Given the description of an element on the screen output the (x, y) to click on. 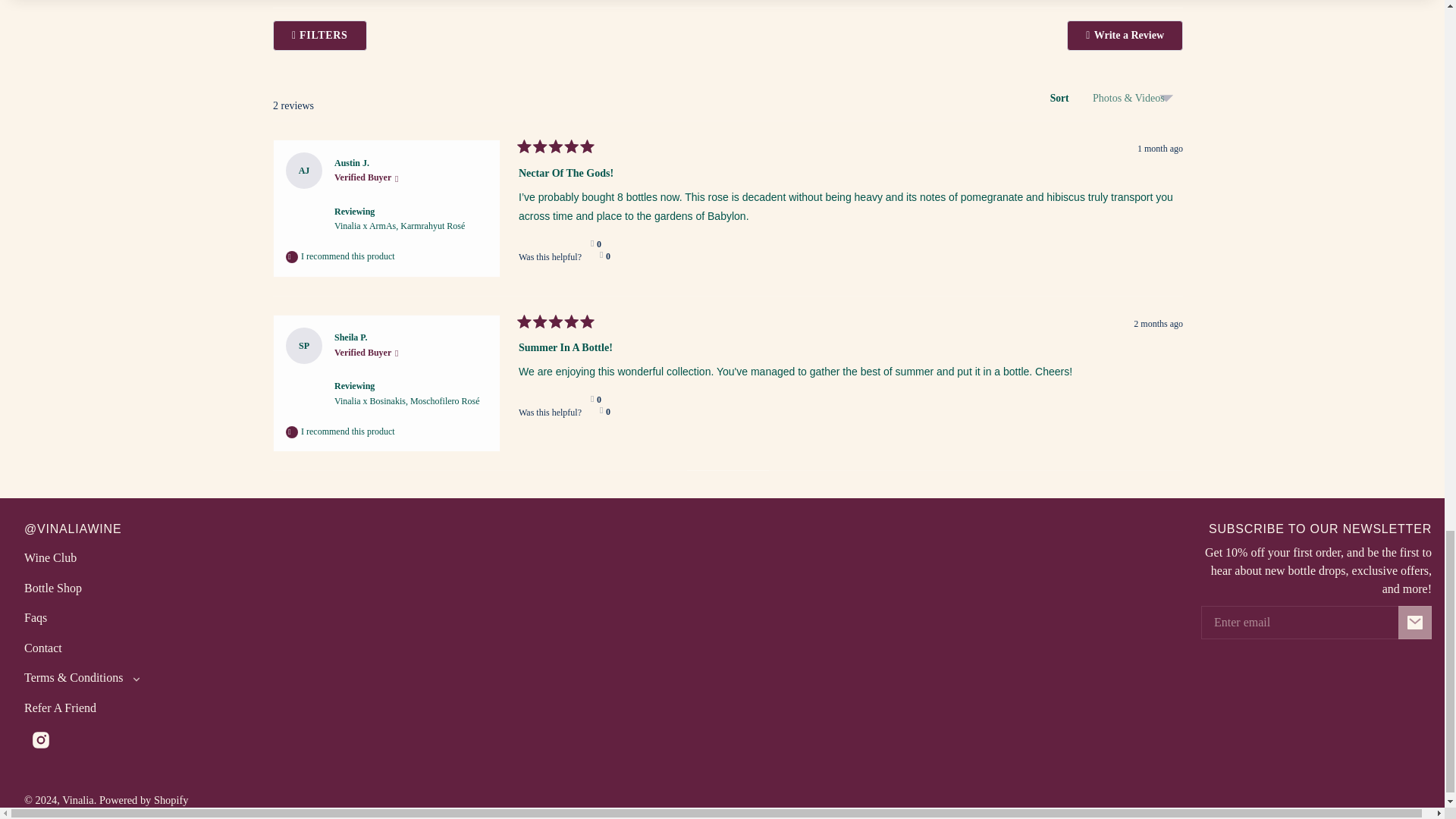
Wine Club (50, 558)
FILTERS (596, 244)
